Given the description of an element on the screen output the (x, y) to click on. 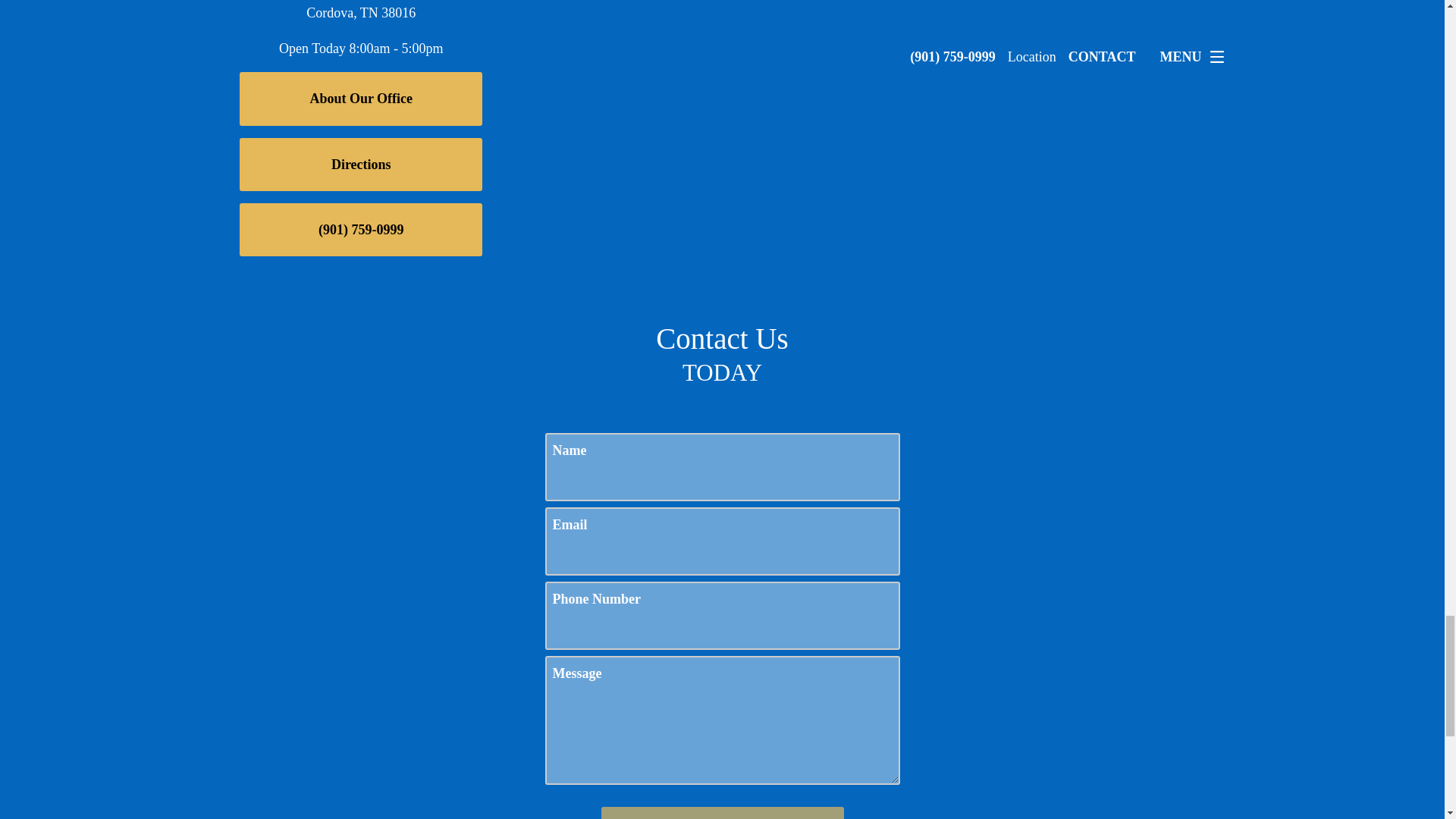
Directions (360, 164)
About Our Office (360, 98)
Send Message (721, 812)
